Given the description of an element on the screen output the (x, y) to click on. 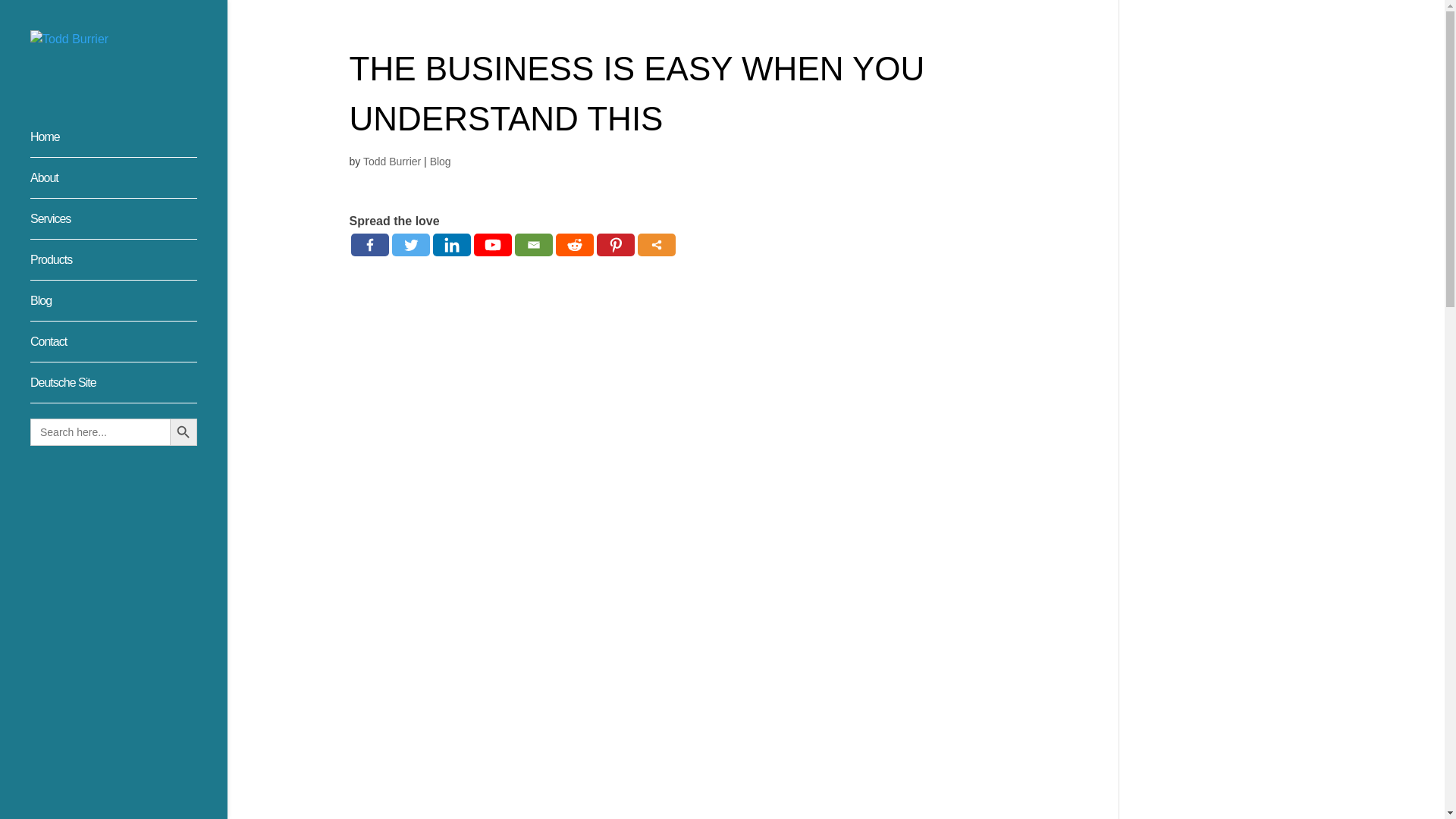
Facebook (369, 244)
About (128, 185)
Youtube (492, 244)
Posts by Todd Burrier (391, 161)
Contact (128, 348)
More (656, 244)
Todd Burrier (391, 161)
Home (128, 144)
Email (532, 244)
Services (128, 226)
Linkedin (451, 244)
Blog (128, 308)
Deutsche Site (128, 389)
Reddit (573, 244)
Search Button (183, 431)
